Given the description of an element on the screen output the (x, y) to click on. 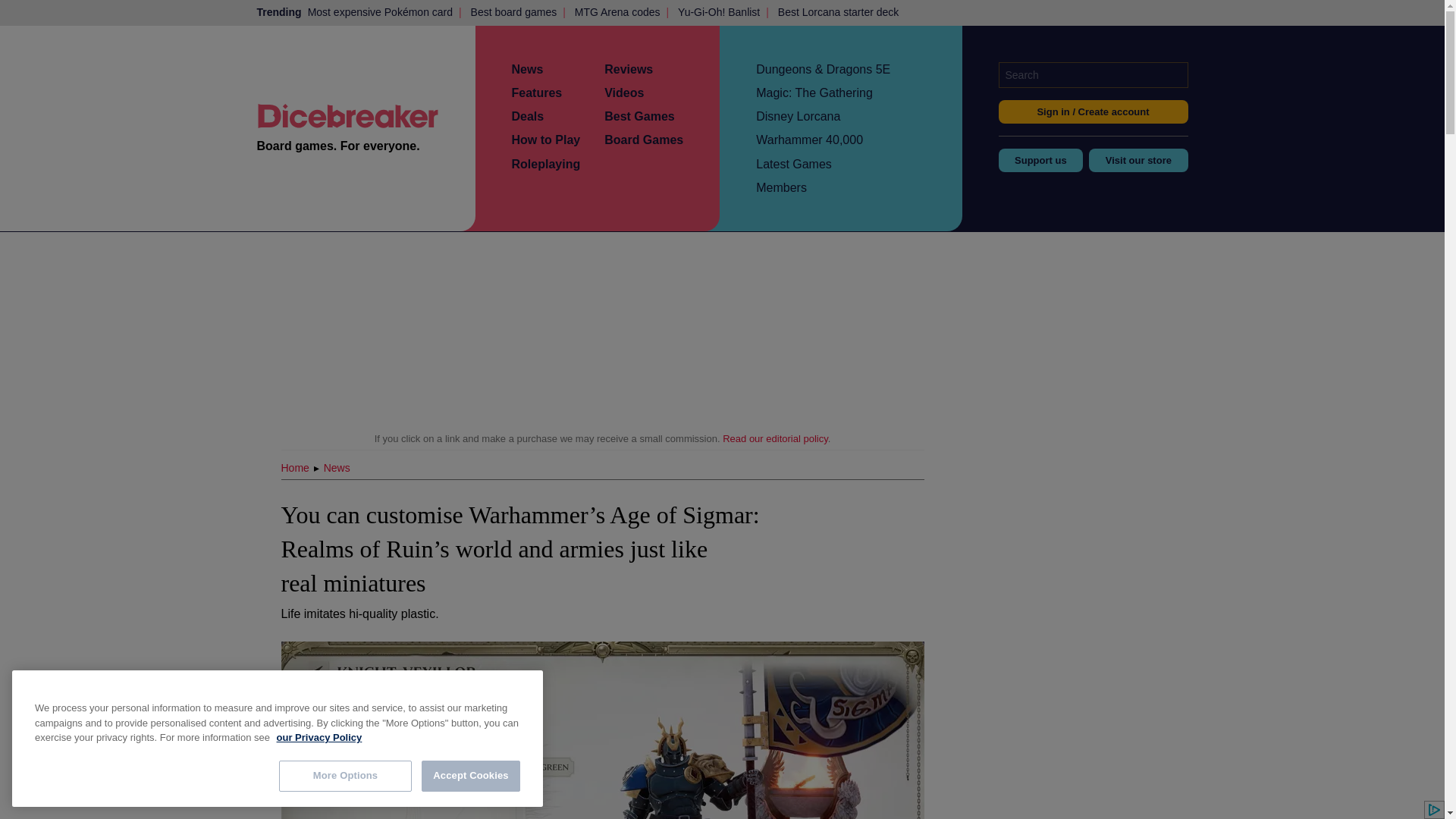
How to Play (545, 139)
Warhammer 40,000 (809, 139)
How to Play (545, 139)
Visit our store (1138, 159)
Disney Lorcana (797, 115)
Best Lorcana starter deck (838, 12)
Best board games (513, 12)
Magic: The Gathering (813, 92)
Magic: The Gathering (813, 92)
Latest Games (793, 164)
